Given the description of an element on the screen output the (x, y) to click on. 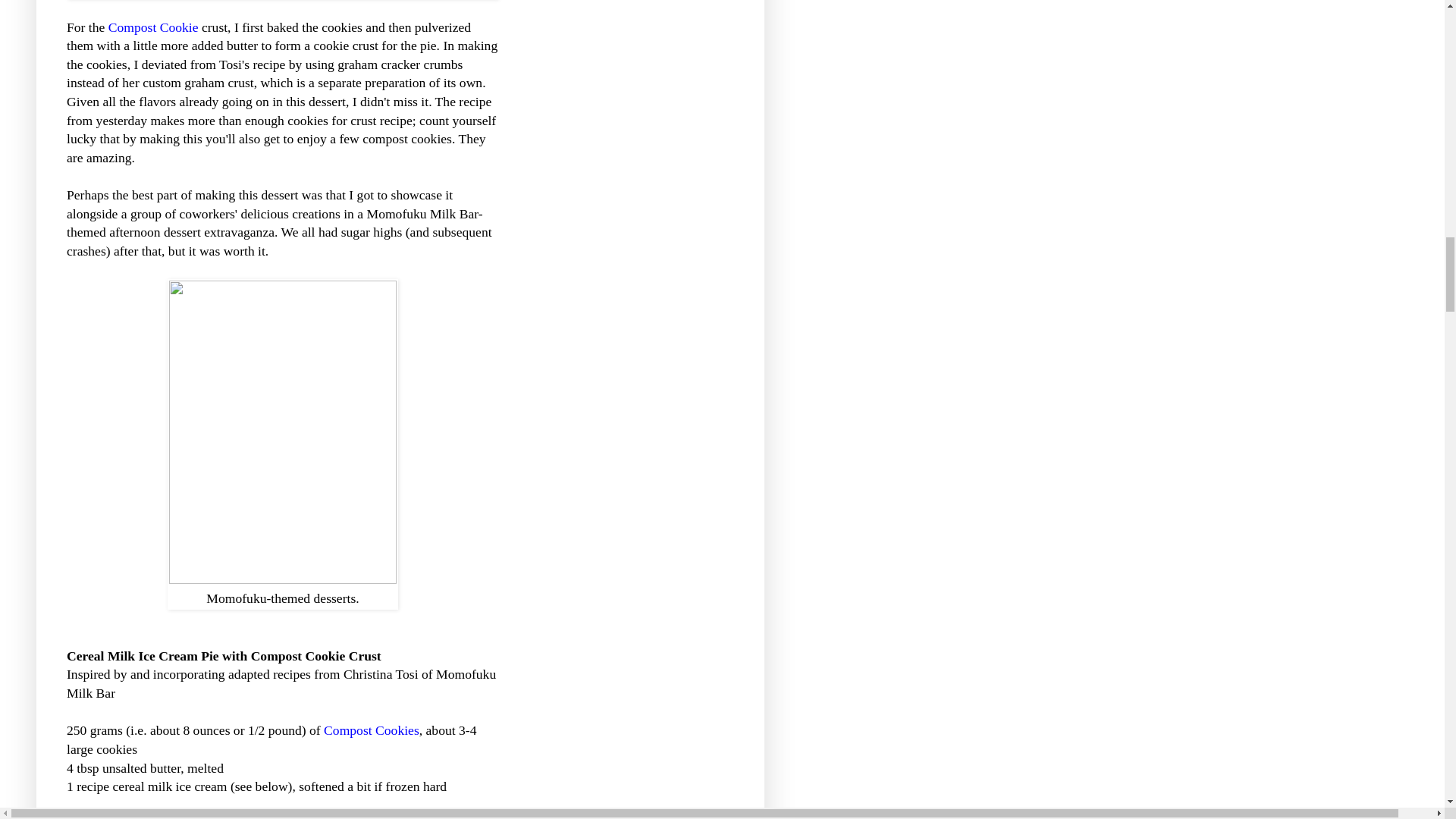
Compost Cookie (152, 27)
Compost Cookies (371, 729)
